Given the description of an element on the screen output the (x, y) to click on. 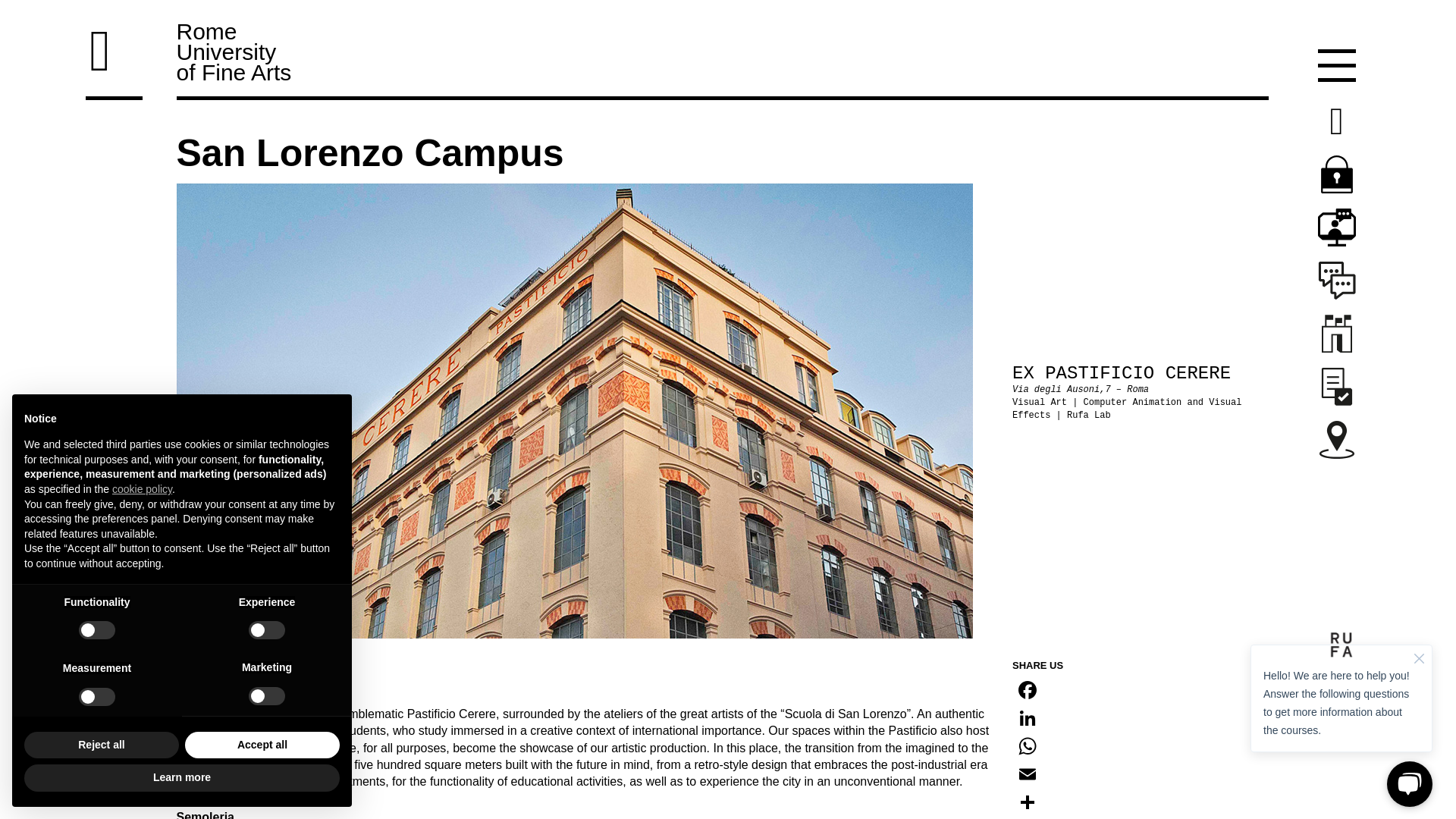
false (266, 696)
false (266, 629)
false (96, 629)
false (96, 696)
